Given the description of an element on the screen output the (x, y) to click on. 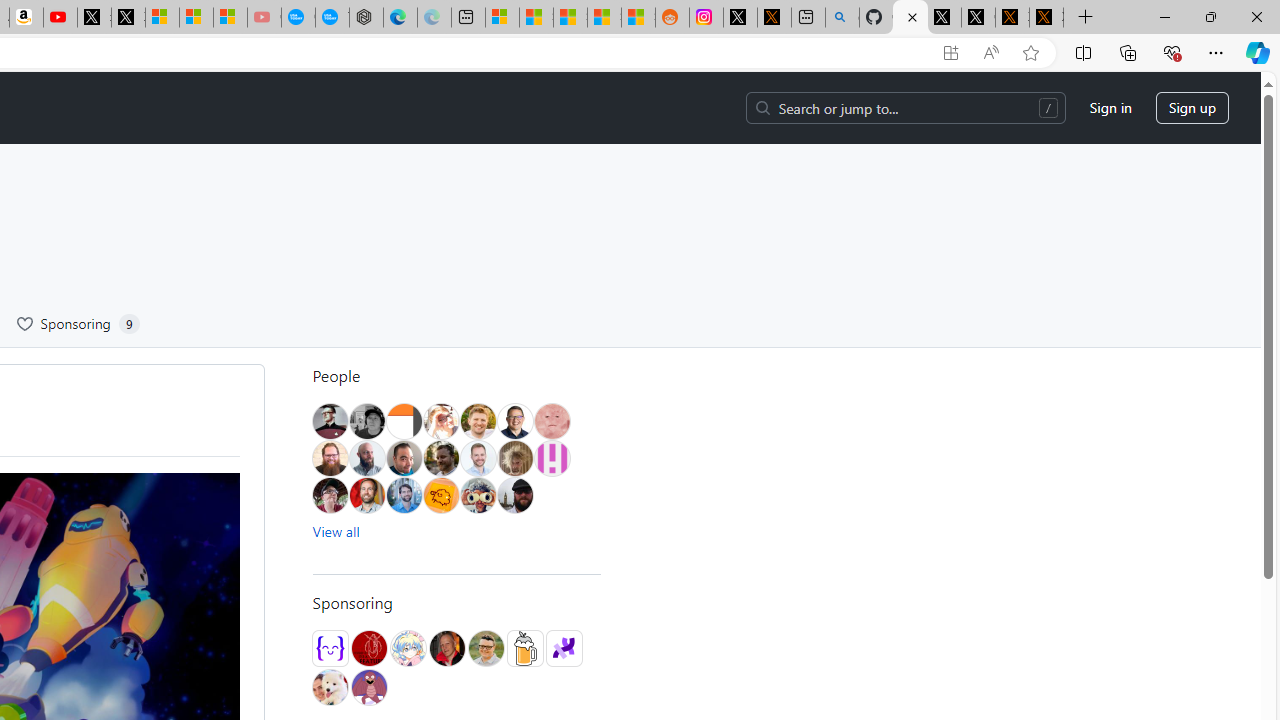
Shanghai, China hourly forecast | Microsoft Weather (570, 17)
@kyanny (440, 495)
@jonmagic (367, 421)
@nickh (514, 457)
@tma (477, 457)
@jonmagic (367, 421)
@mtodd (330, 421)
@rubiojr (477, 495)
@look (404, 495)
@sindresorhus (330, 687)
Sign up (1191, 107)
GitHub (@github) / X (978, 17)
